Given the description of an element on the screen output the (x, y) to click on. 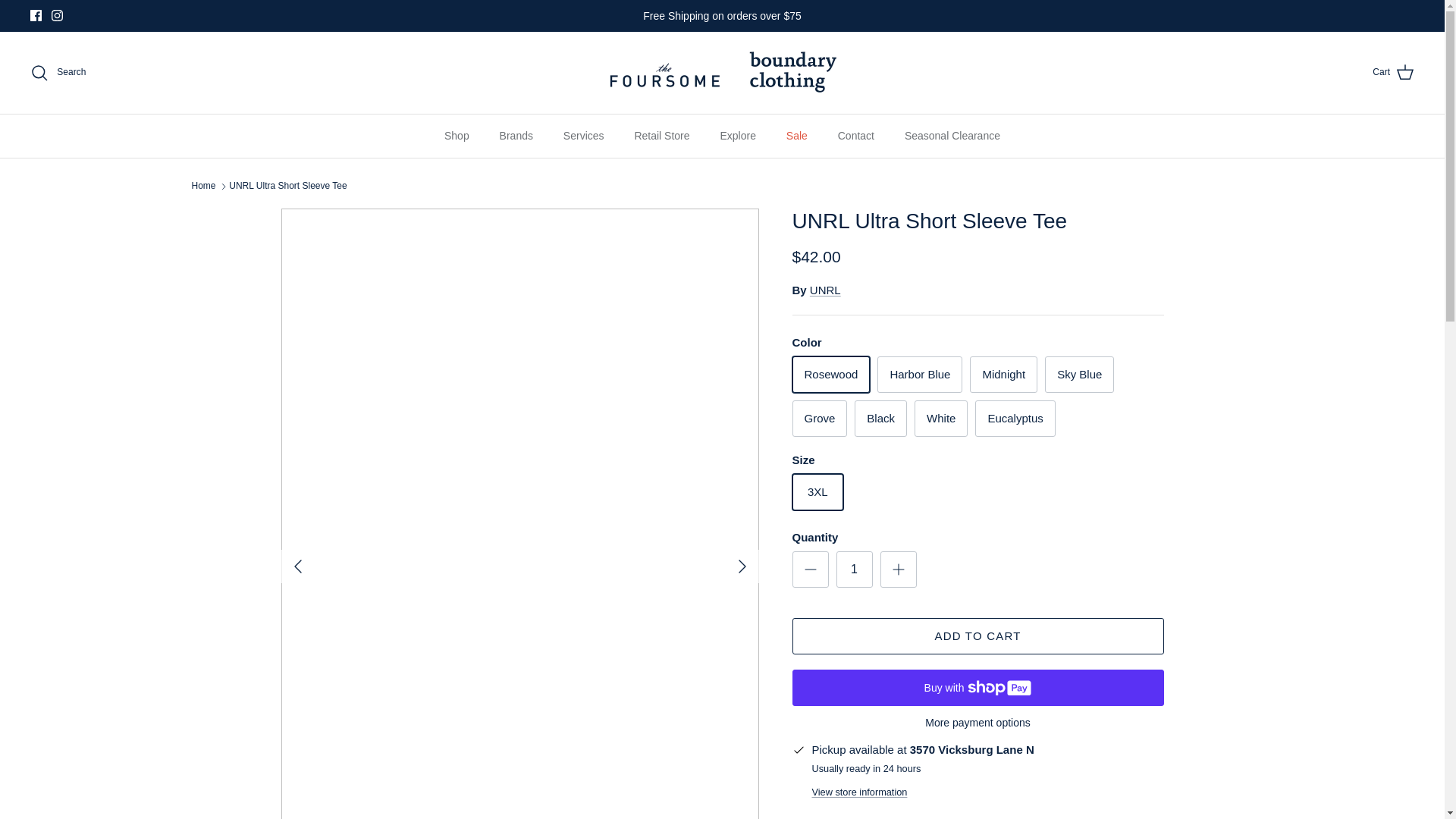
RIGHT (741, 566)
1 (853, 569)
Facebook (36, 15)
Cart (1393, 72)
Shop (456, 136)
Facebook (36, 15)
Minus (809, 569)
Plus (897, 569)
Search (57, 72)
Instagram (56, 15)
